Given the description of an element on the screen output the (x, y) to click on. 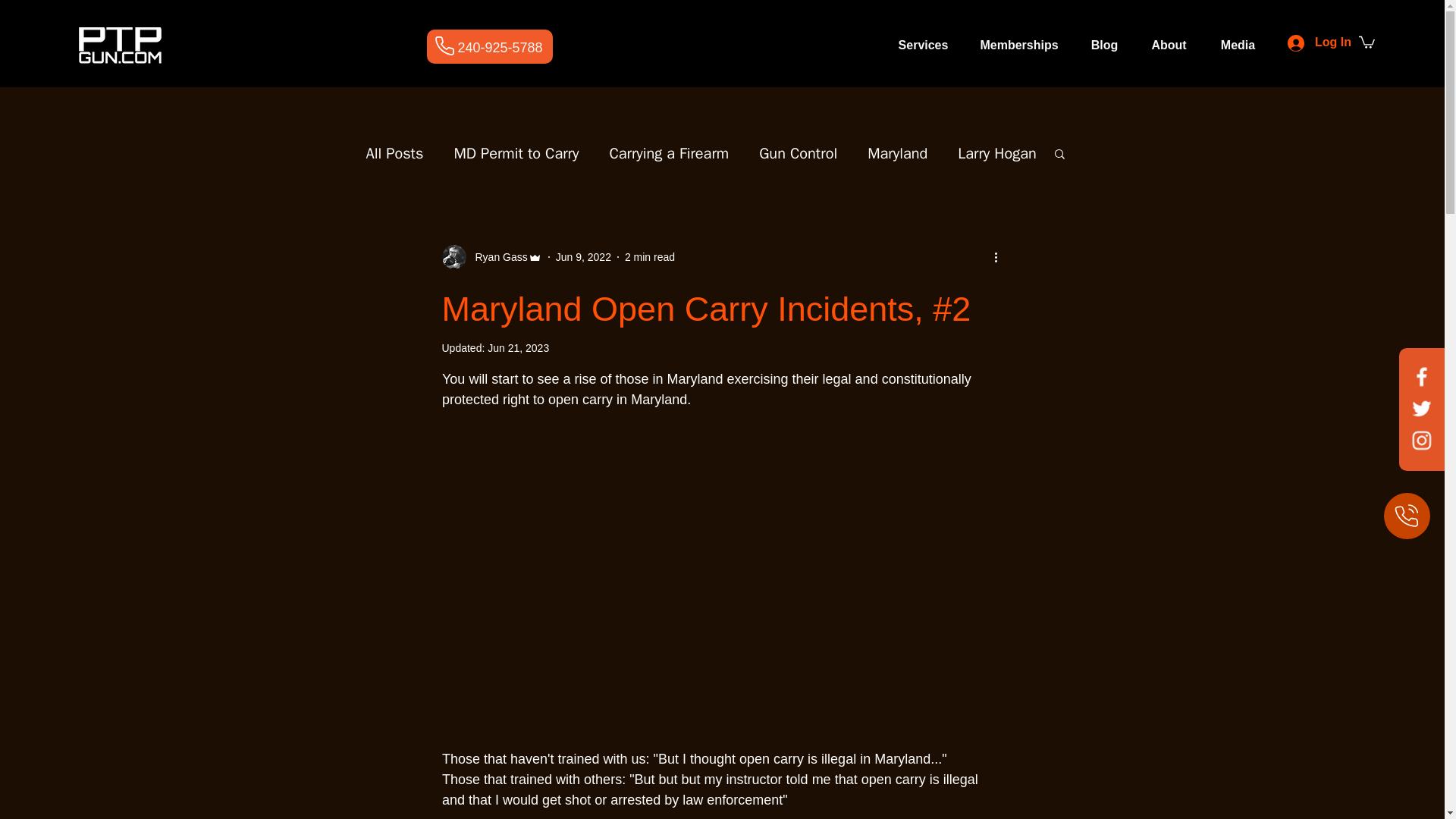
Media (1237, 44)
Gun Control (797, 152)
Log In (1304, 42)
Jun 21, 2023 (517, 347)
Ryan Gass (496, 256)
About (1168, 44)
Maryland (897, 152)
2 min read (649, 256)
240-925-5788 (500, 47)
Services (922, 44)
Larry Hogan (996, 152)
Blog (1104, 44)
MD Permit to Carry (515, 152)
Jun 9, 2022 (583, 256)
All Posts (394, 152)
